Given the description of an element on the screen output the (x, y) to click on. 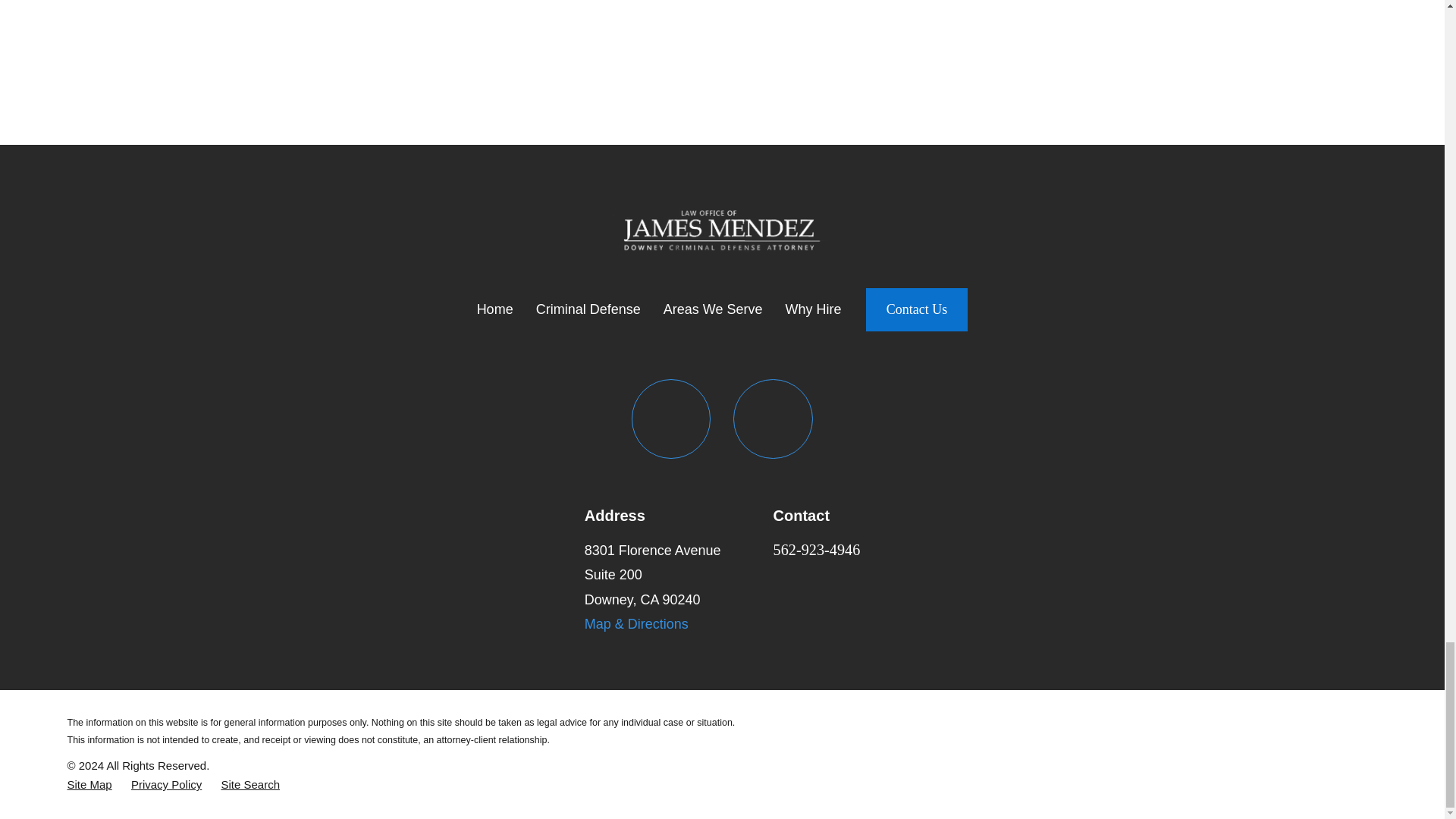
LinkedIn (772, 418)
Home (721, 226)
Facebook (671, 418)
